Given the description of an element on the screen output the (x, y) to click on. 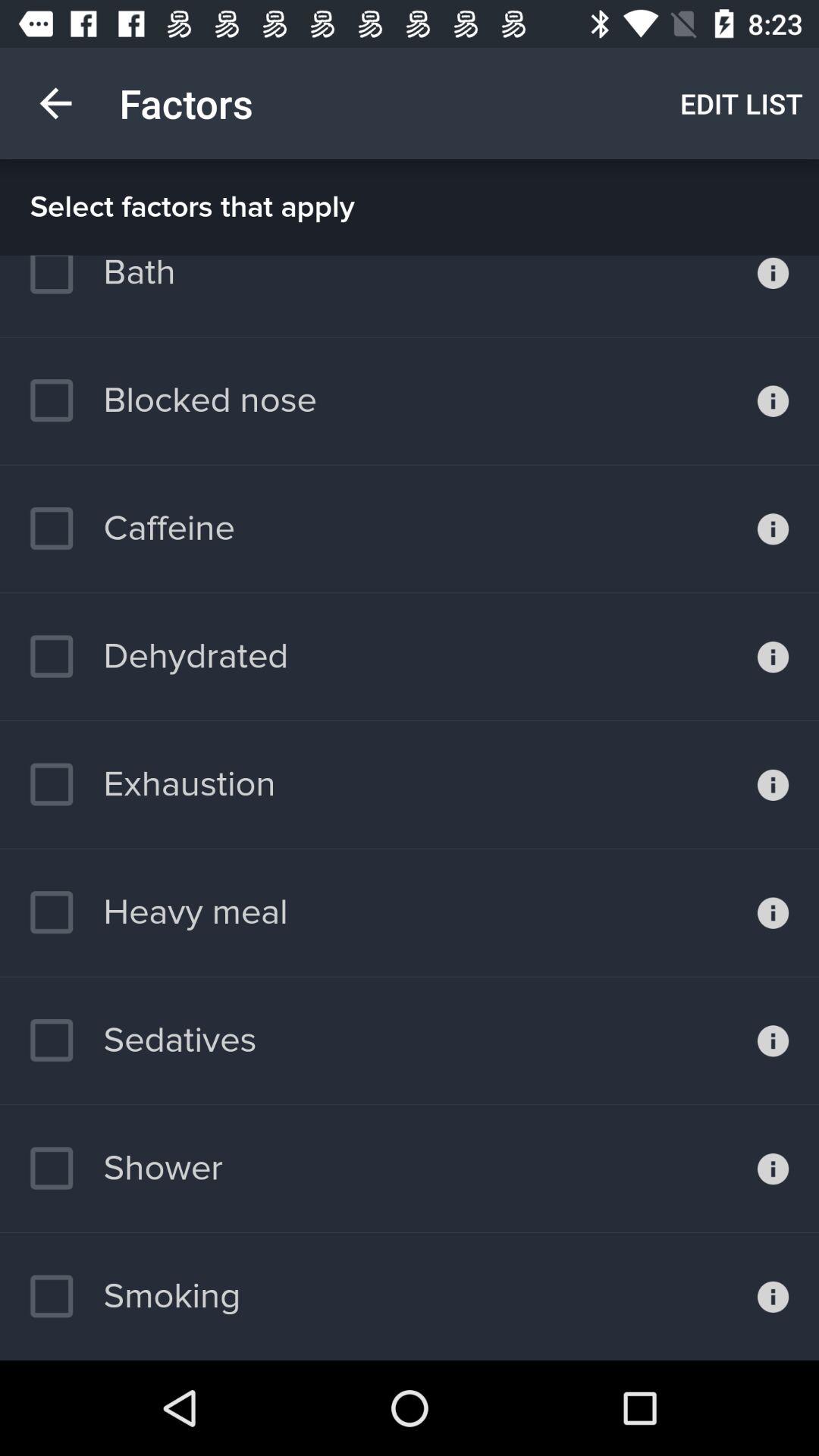
more info on sedatives (773, 1040)
